Given the description of an element on the screen output the (x, y) to click on. 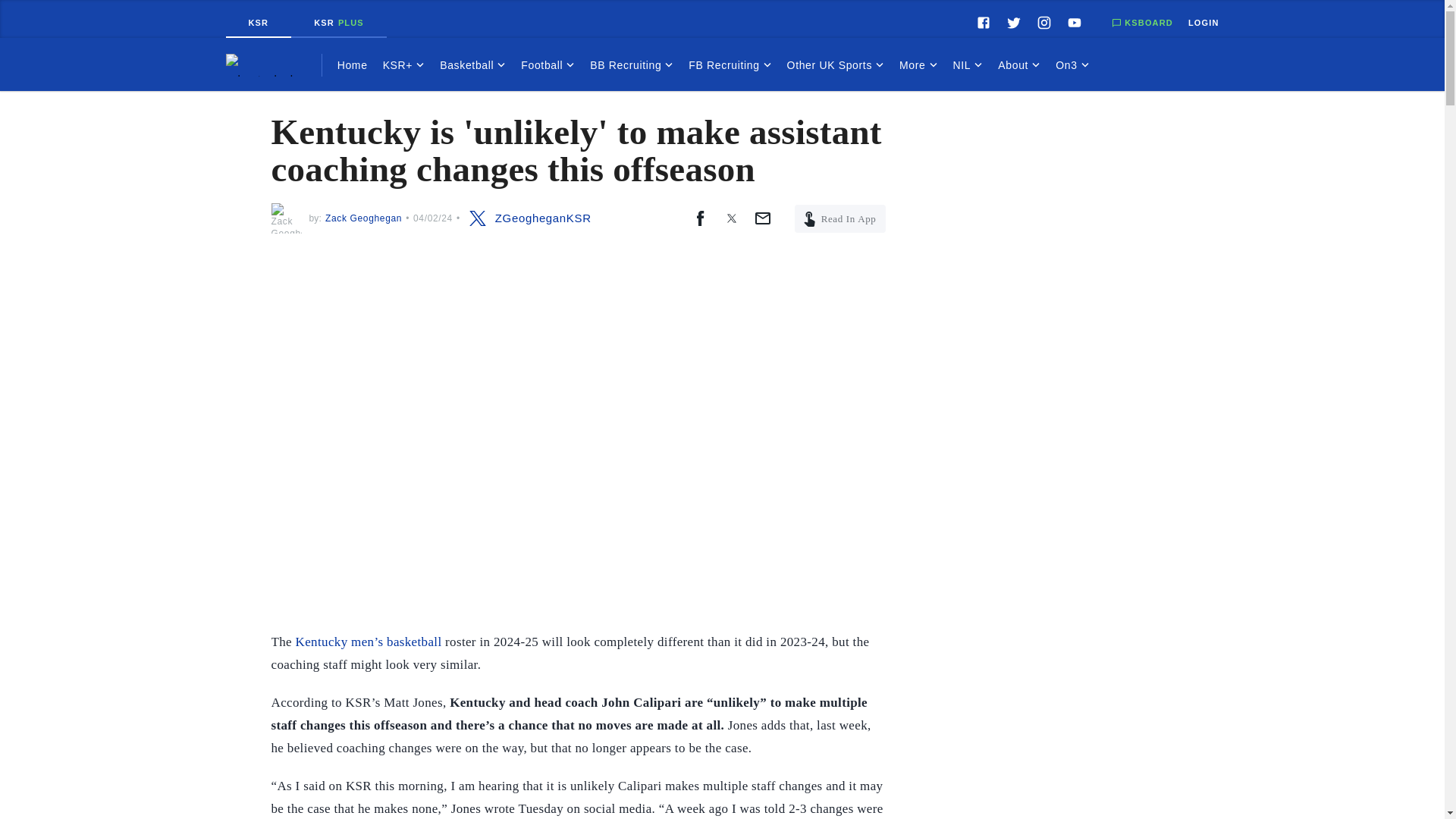
Football (547, 65)
Basketball (472, 65)
home (273, 65)
Home (352, 65)
KSBOARD (1142, 19)
LOGIN (1204, 19)
Kentucky (273, 65)
BB Recruiting (339, 22)
KSR (631, 65)
